Given the description of an element on the screen output the (x, y) to click on. 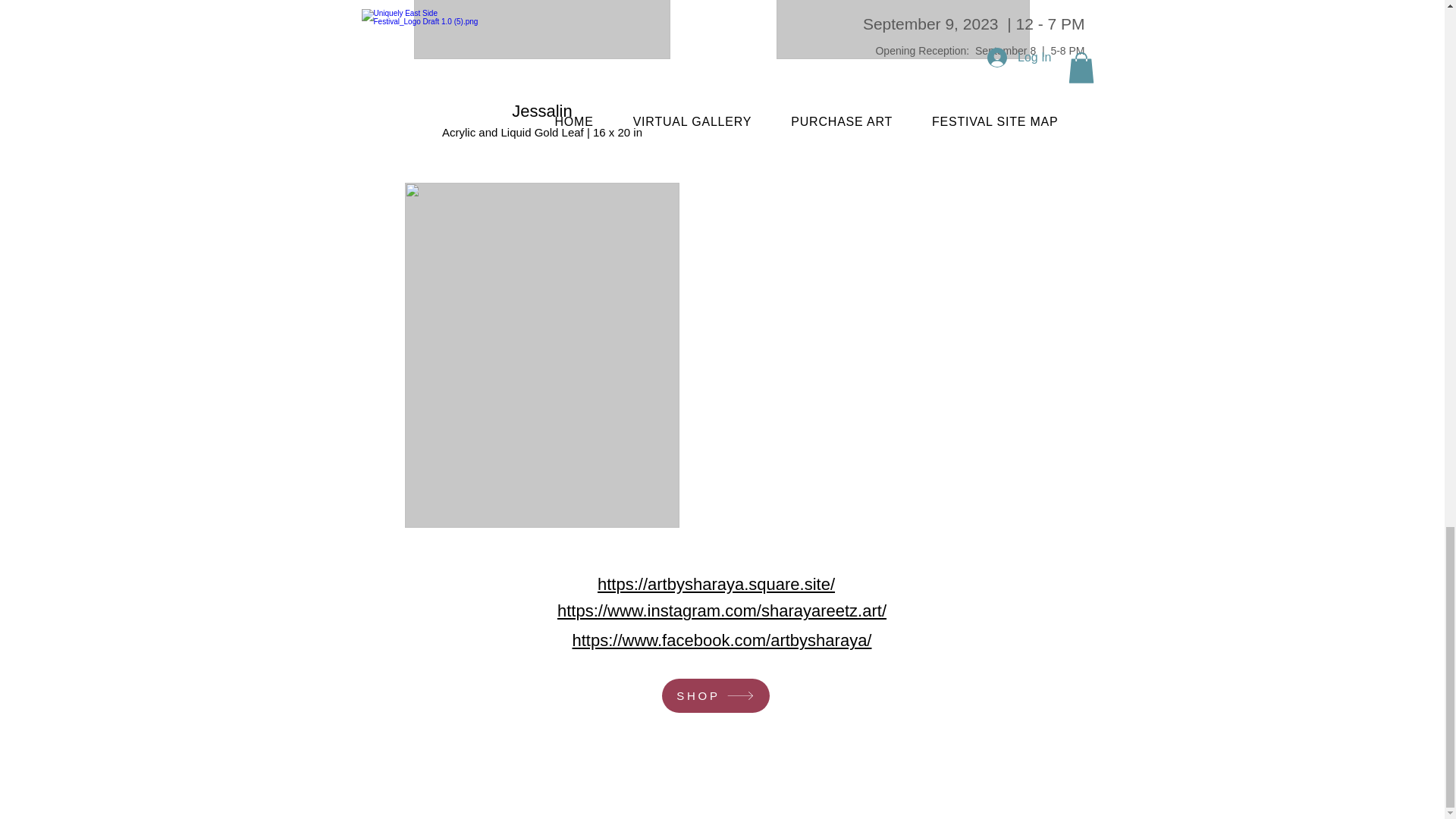
SHOP (714, 695)
